Given the description of an element on the screen output the (x, y) to click on. 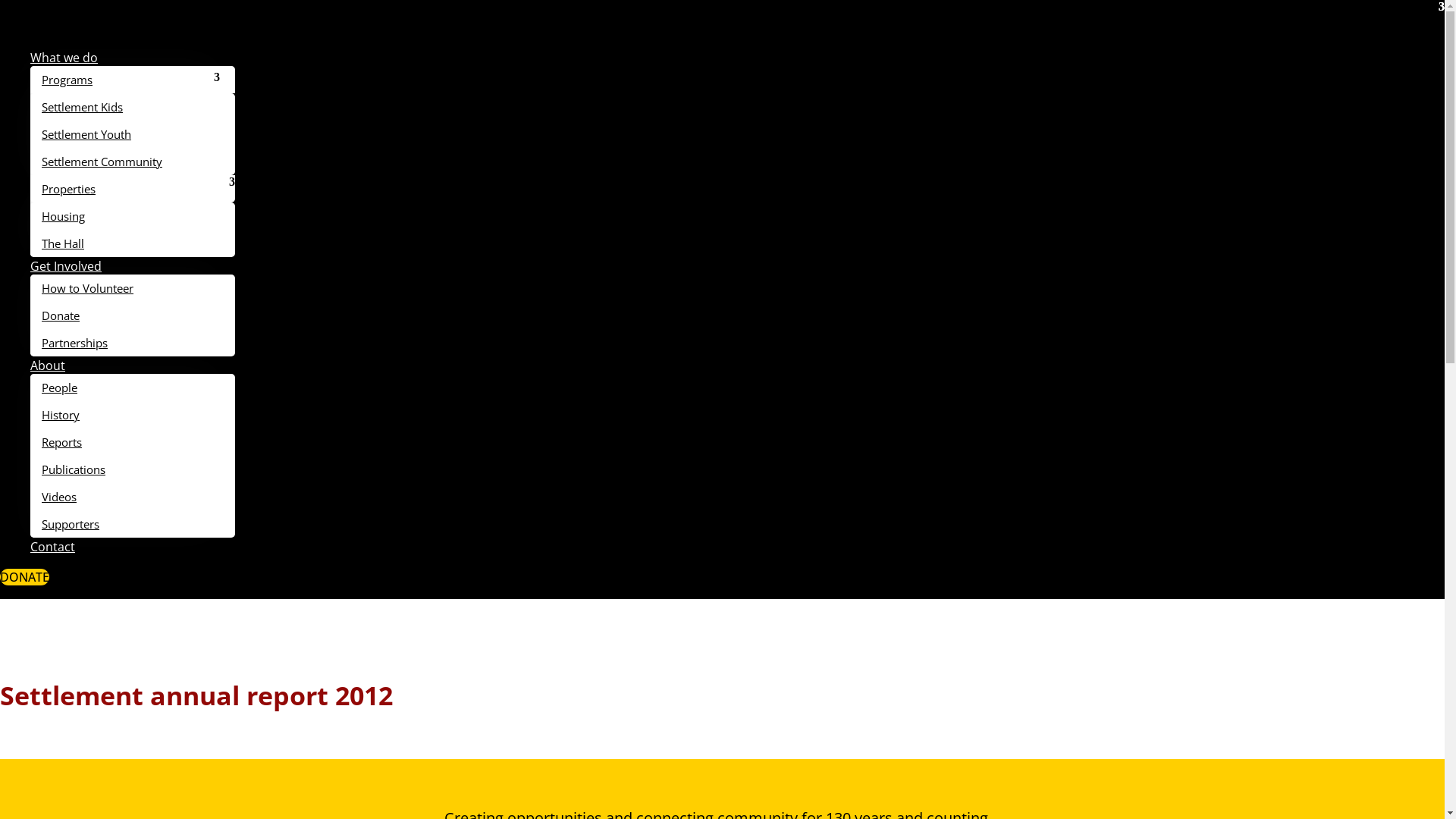
Housing Element type: text (132, 215)
Programs Element type: text (132, 79)
History Element type: text (132, 414)
The Hall Element type: text (132, 243)
About Element type: text (47, 365)
Donate Element type: text (132, 315)
Settlement Community Element type: text (132, 161)
Get Involved Element type: text (65, 265)
Properties Element type: text (132, 188)
DONATE Element type: text (24, 576)
What we do Element type: text (63, 57)
Reports Element type: text (132, 441)
Publications Element type: text (132, 469)
Settlement Youth Element type: text (132, 133)
Partnerships Element type: text (132, 342)
How to Volunteer Element type: text (132, 287)
Supporters Element type: text (132, 523)
Videos Element type: text (132, 496)
People Element type: text (132, 387)
Settlement Kids Element type: text (132, 106)
Contact Element type: text (52, 546)
